Given the description of an element on the screen output the (x, y) to click on. 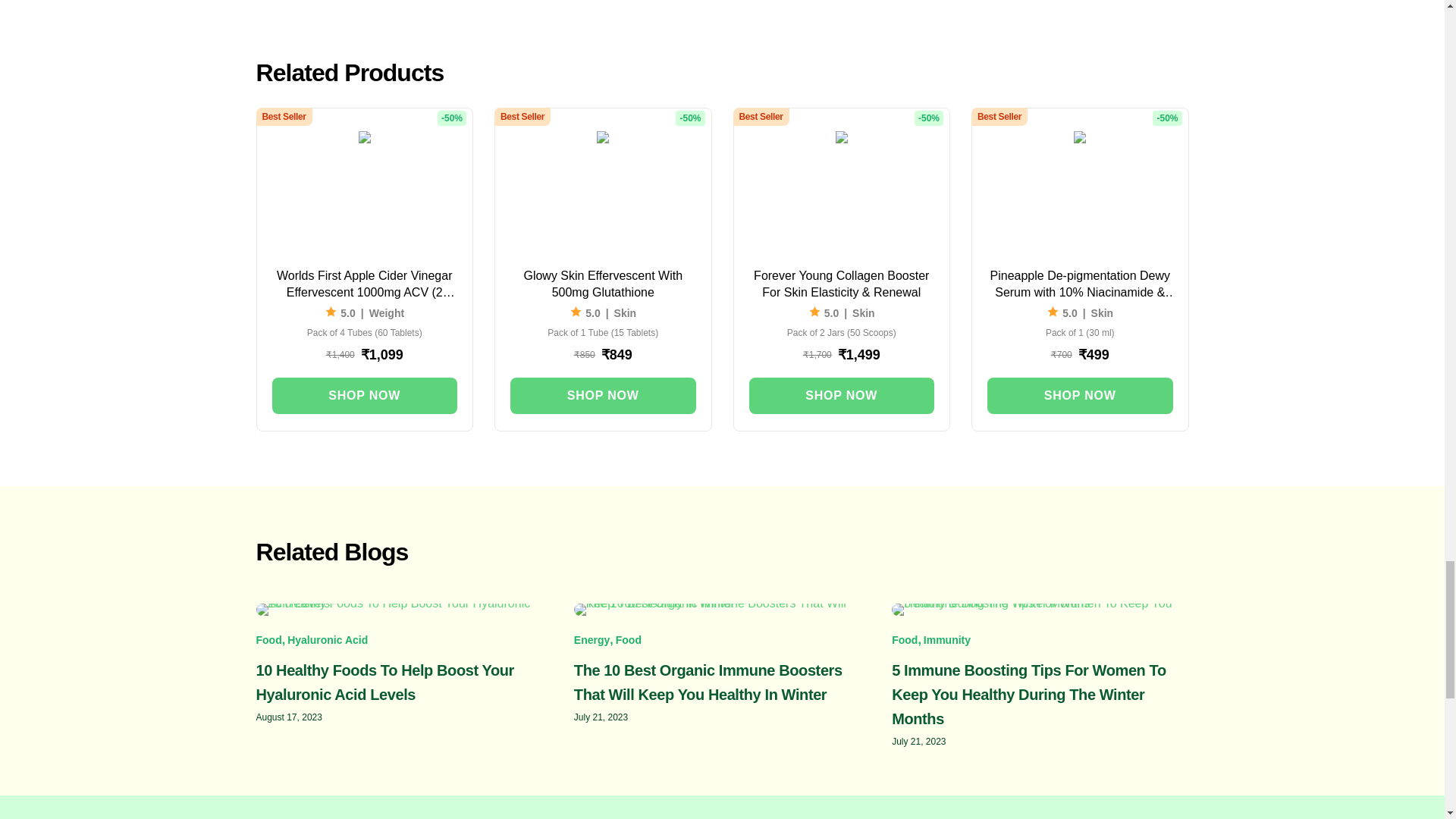
10 Healthy Foods To Help Boost Your Hyaluronic Acid Levels 4 (404, 609)
